Given the description of an element on the screen output the (x, y) to click on. 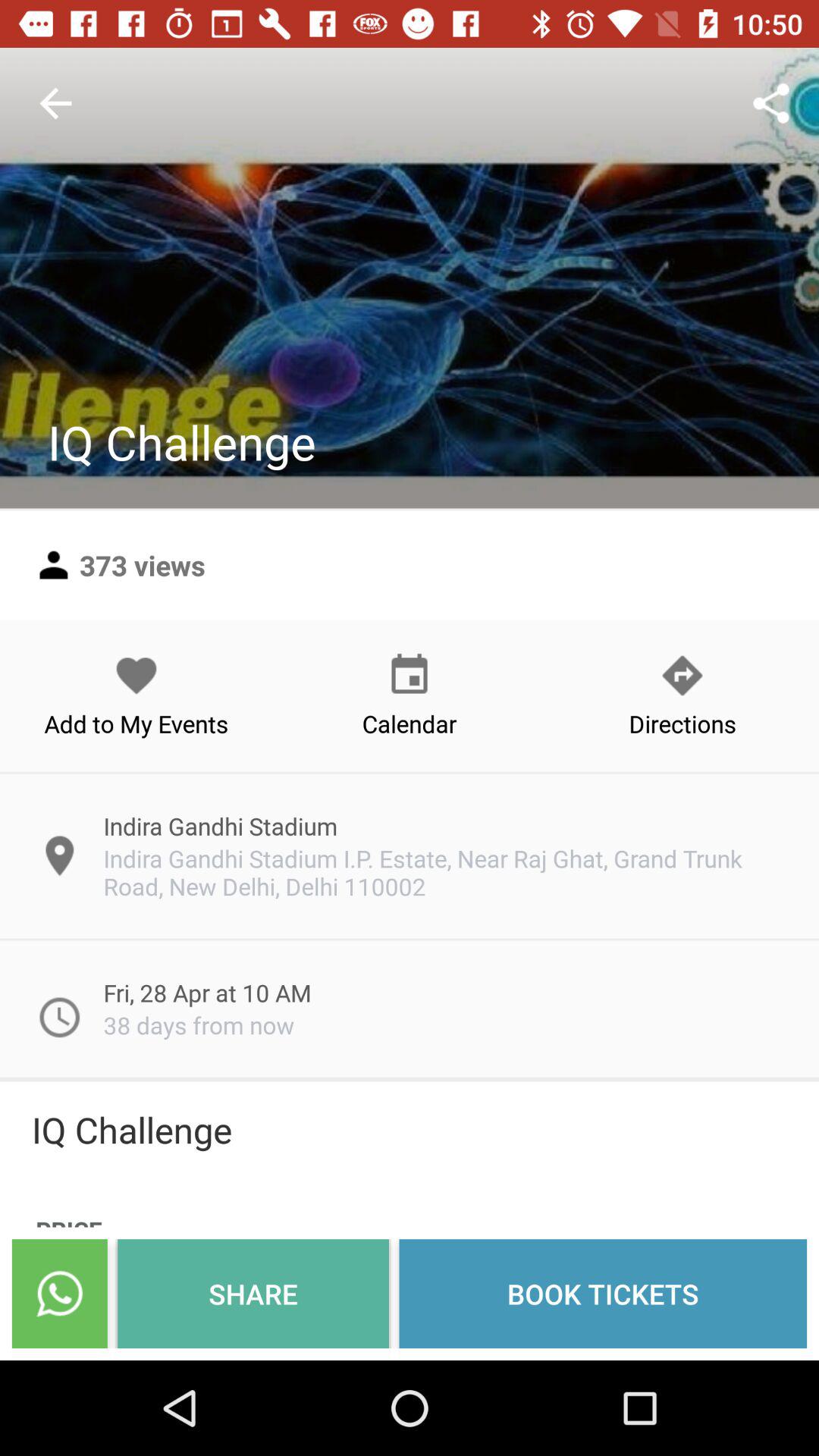
open directions icon (682, 695)
